Given the description of an element on the screen output the (x, y) to click on. 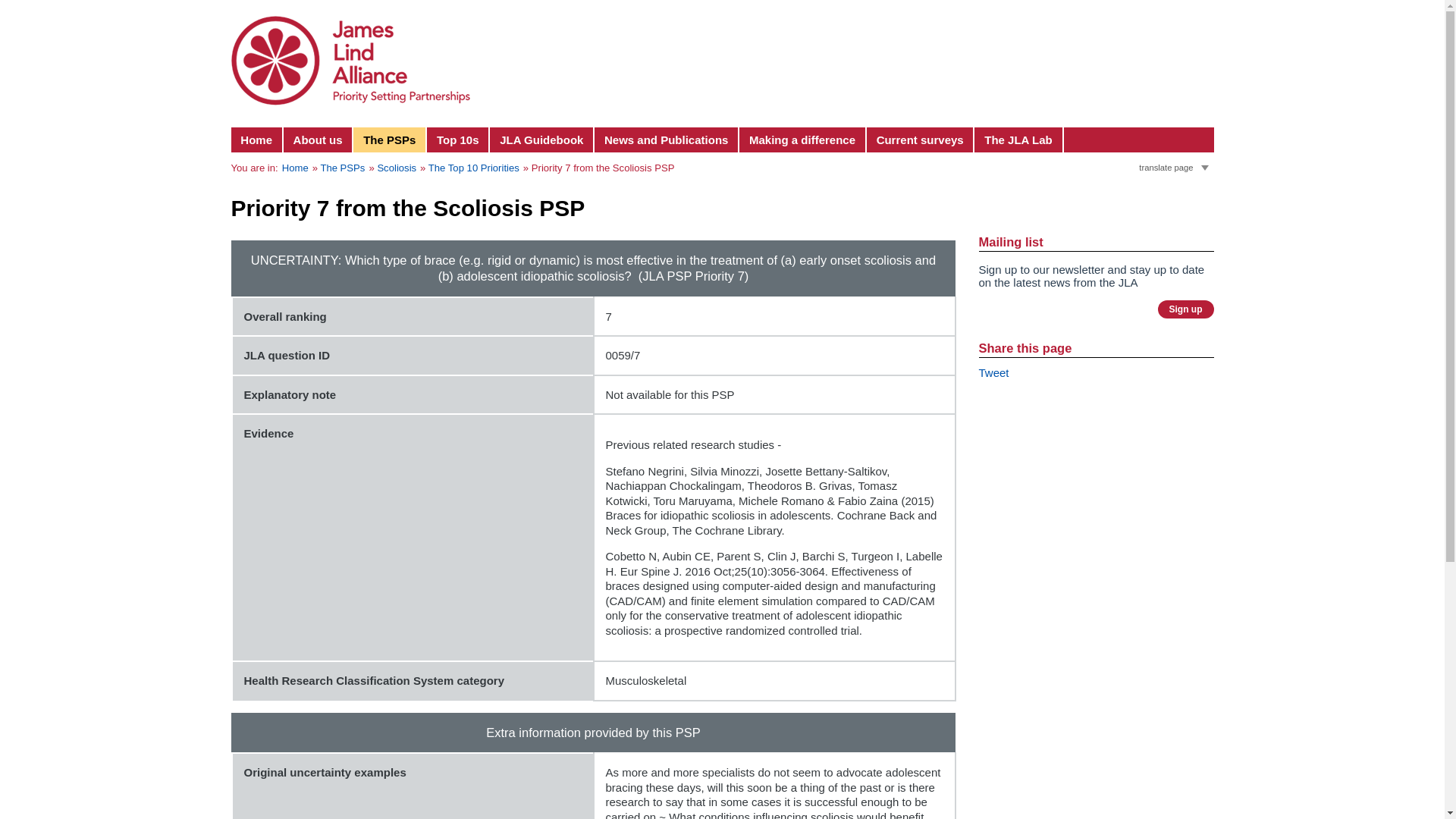
The Top 10 Priorities (473, 167)
Top 10s - AccessKey:E (457, 139)
About us (318, 139)
on (1142, 163)
Current surveys (920, 139)
The JLA Lab (1018, 139)
The PSPs (389, 139)
The PSPs (342, 167)
JLA Guidebook (541, 139)
JLA Guidebook - AccessKey:F (541, 139)
